Given the description of an element on the screen output the (x, y) to click on. 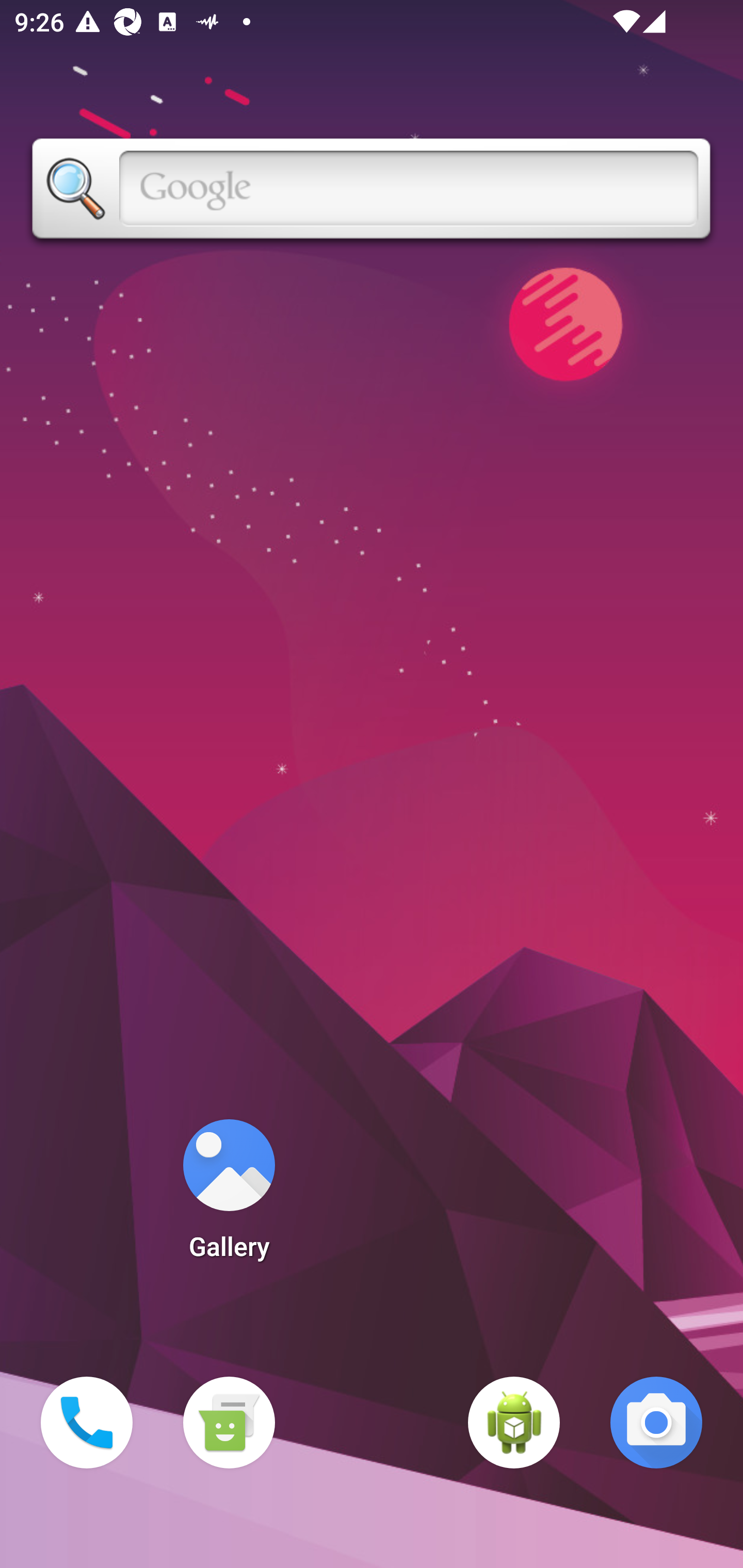
Gallery (228, 1195)
Phone (86, 1422)
Messaging (228, 1422)
WebView Browser Tester (513, 1422)
Camera (656, 1422)
